Given the description of an element on the screen output the (x, y) to click on. 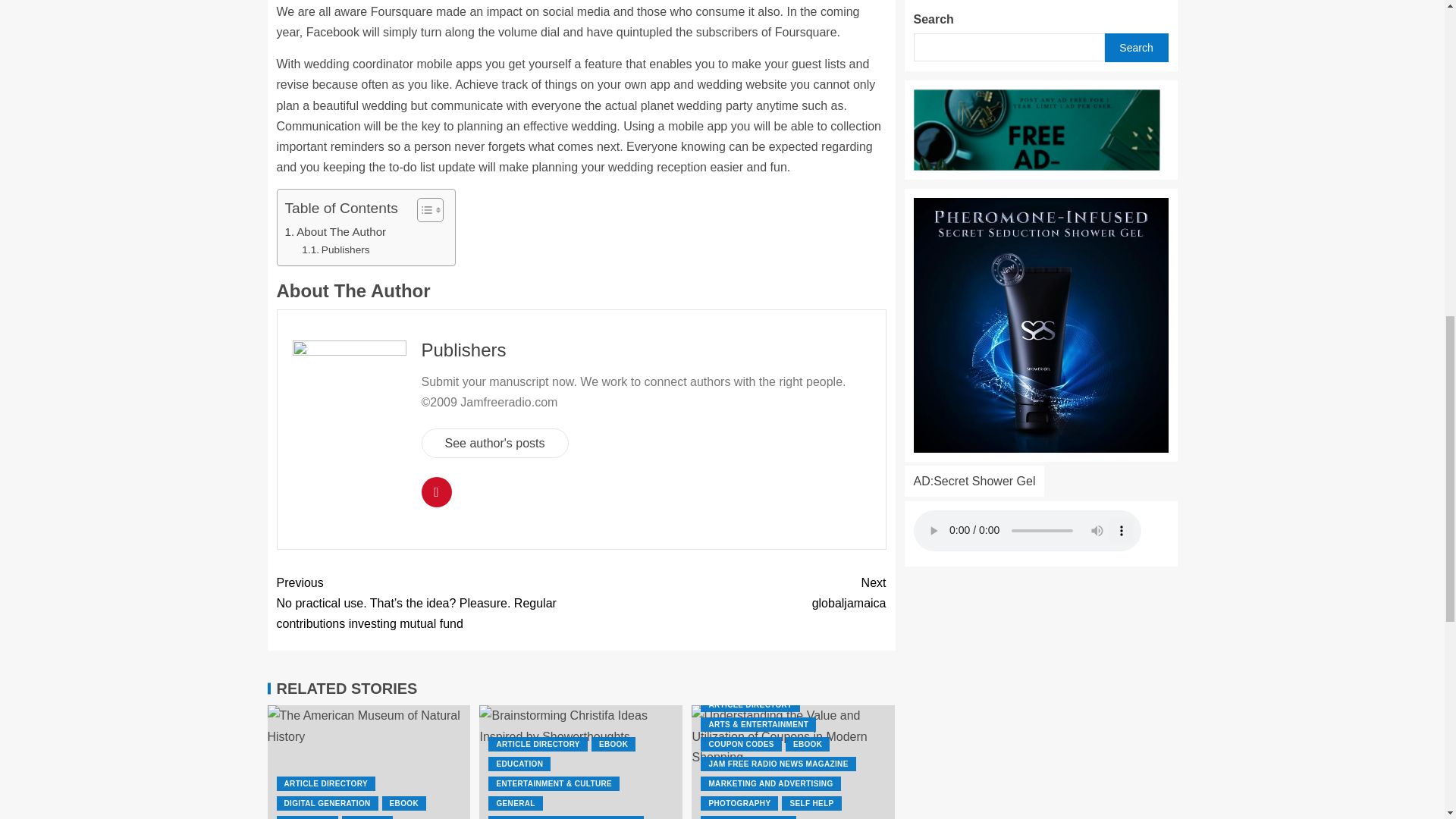
Publishers (335, 249)
About The Author (336, 231)
The American Museum of Natural History (368, 762)
Brainstorming Christifa Ideas Inspired by Showerthoughts (580, 762)
About The Author (336, 231)
Publishers (335, 249)
Publishers (464, 349)
